Given the description of an element on the screen output the (x, y) to click on. 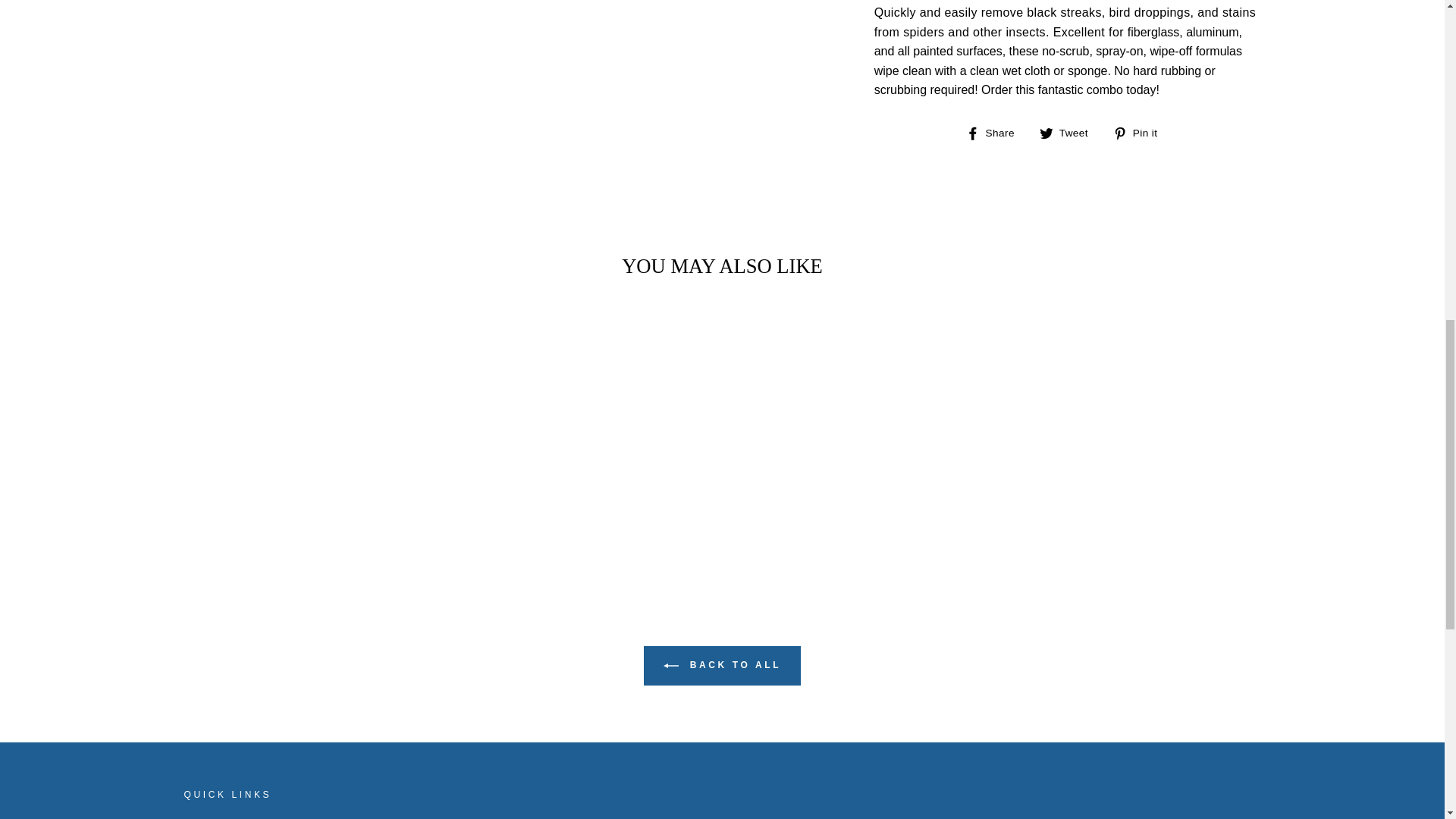
Share on Facebook (996, 132)
Tweet on Twitter (1069, 132)
Pin on Pinterest (1141, 132)
